Given the description of an element on the screen output the (x, y) to click on. 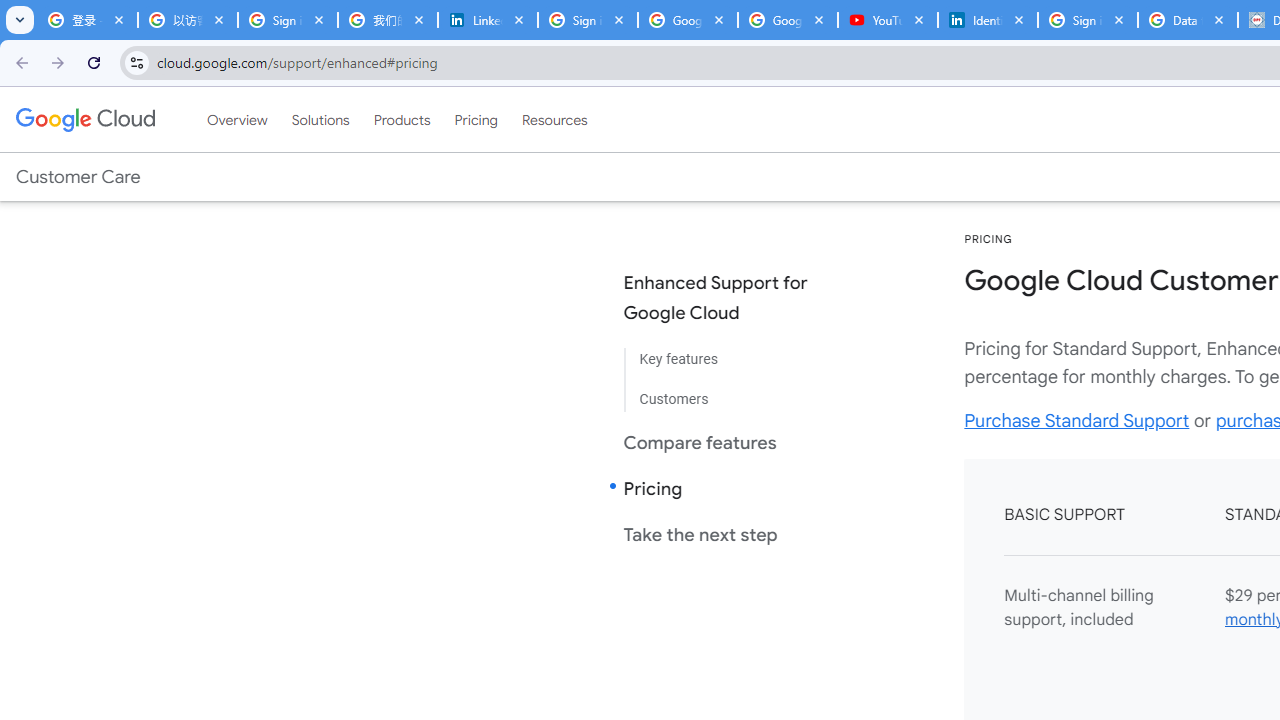
Reload (93, 62)
